Given the description of an element on the screen output the (x, y) to click on. 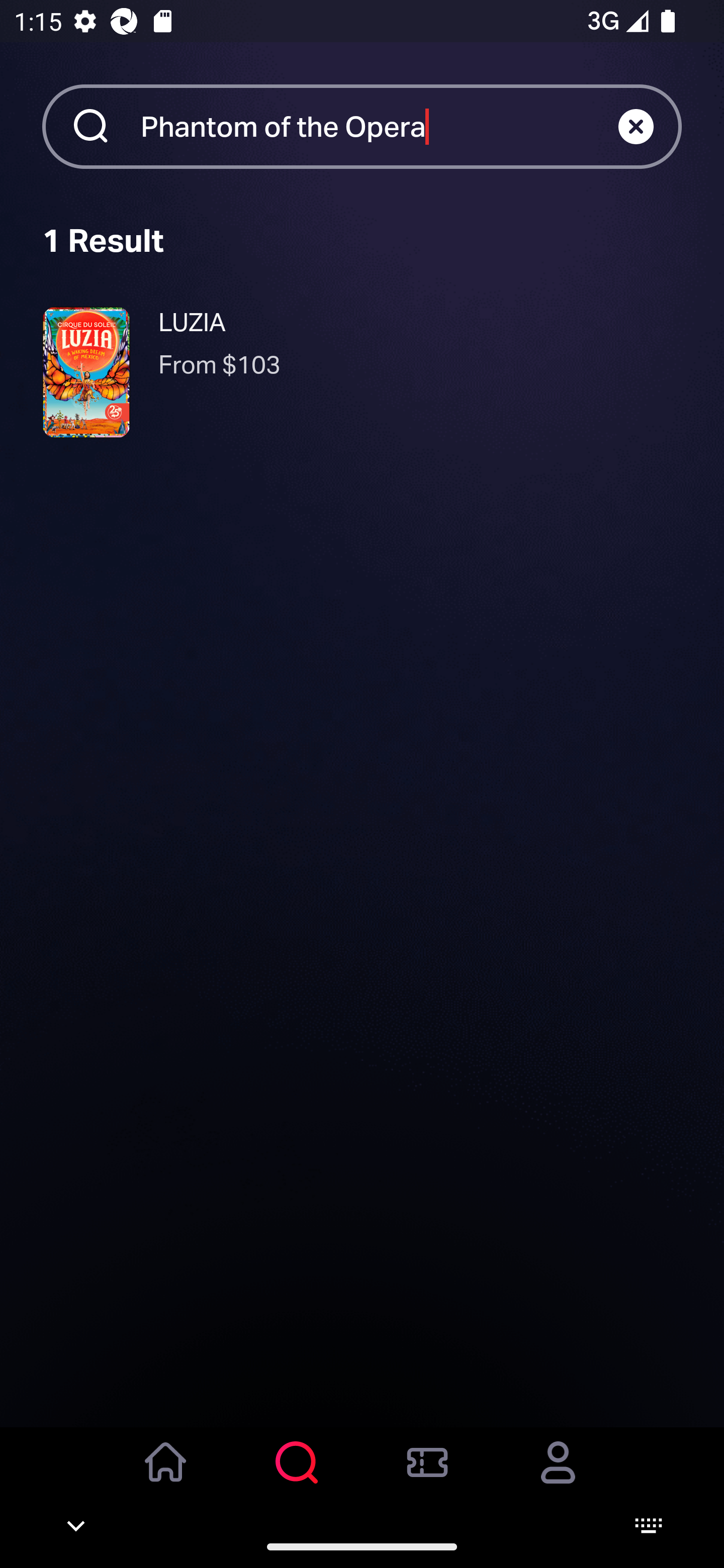
Phantom of the Opera (379, 126)
LUZIA $103  LUZIA From $103 (361, 372)
Home (165, 1475)
Orders (427, 1475)
Account (558, 1475)
